Given the description of an element on the screen output the (x, y) to click on. 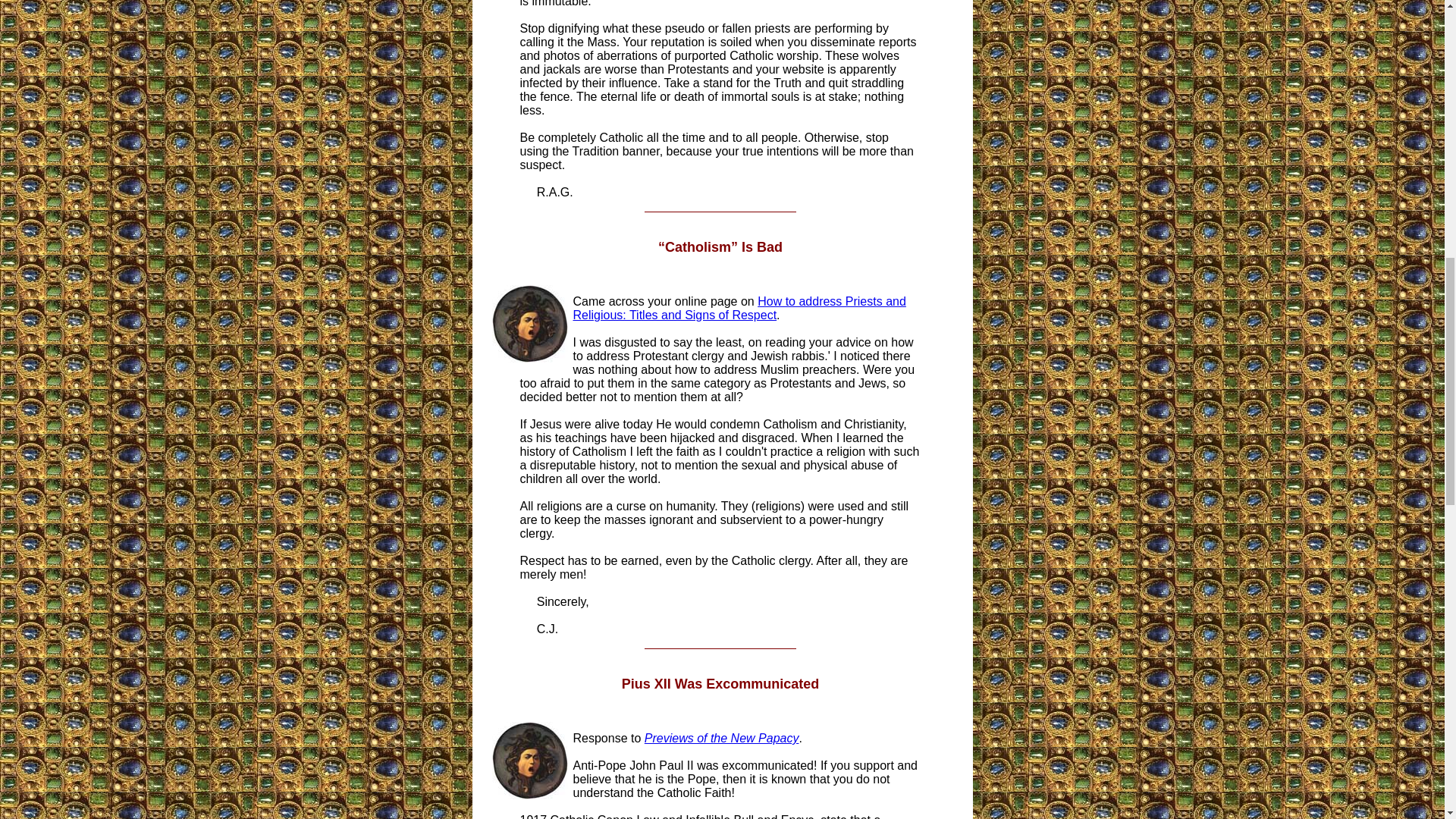
Previews of the New Papacy (722, 738)
